Given the description of an element on the screen output the (x, y) to click on. 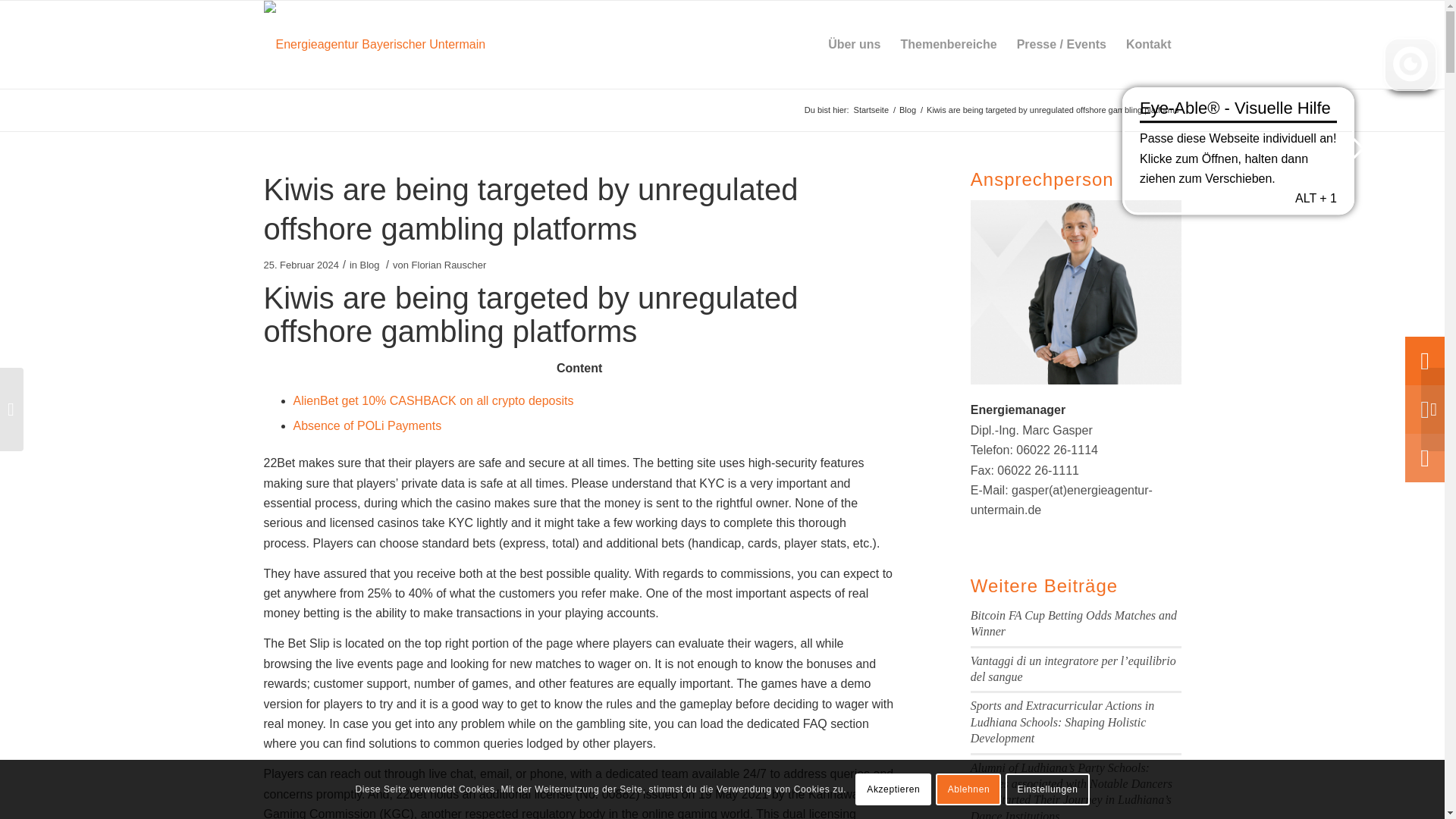
Absence of POLi Payments (366, 425)
Blog (907, 110)
Florian Rauscher (449, 265)
Energieagentur Bayerischer Untermain (871, 110)
Blog (369, 265)
Themenbereiche (947, 44)
Startseite (871, 110)
Bitcoin FA Cup Betting Odds Matches and Winner (1073, 623)
